Given the description of an element on the screen output the (x, y) to click on. 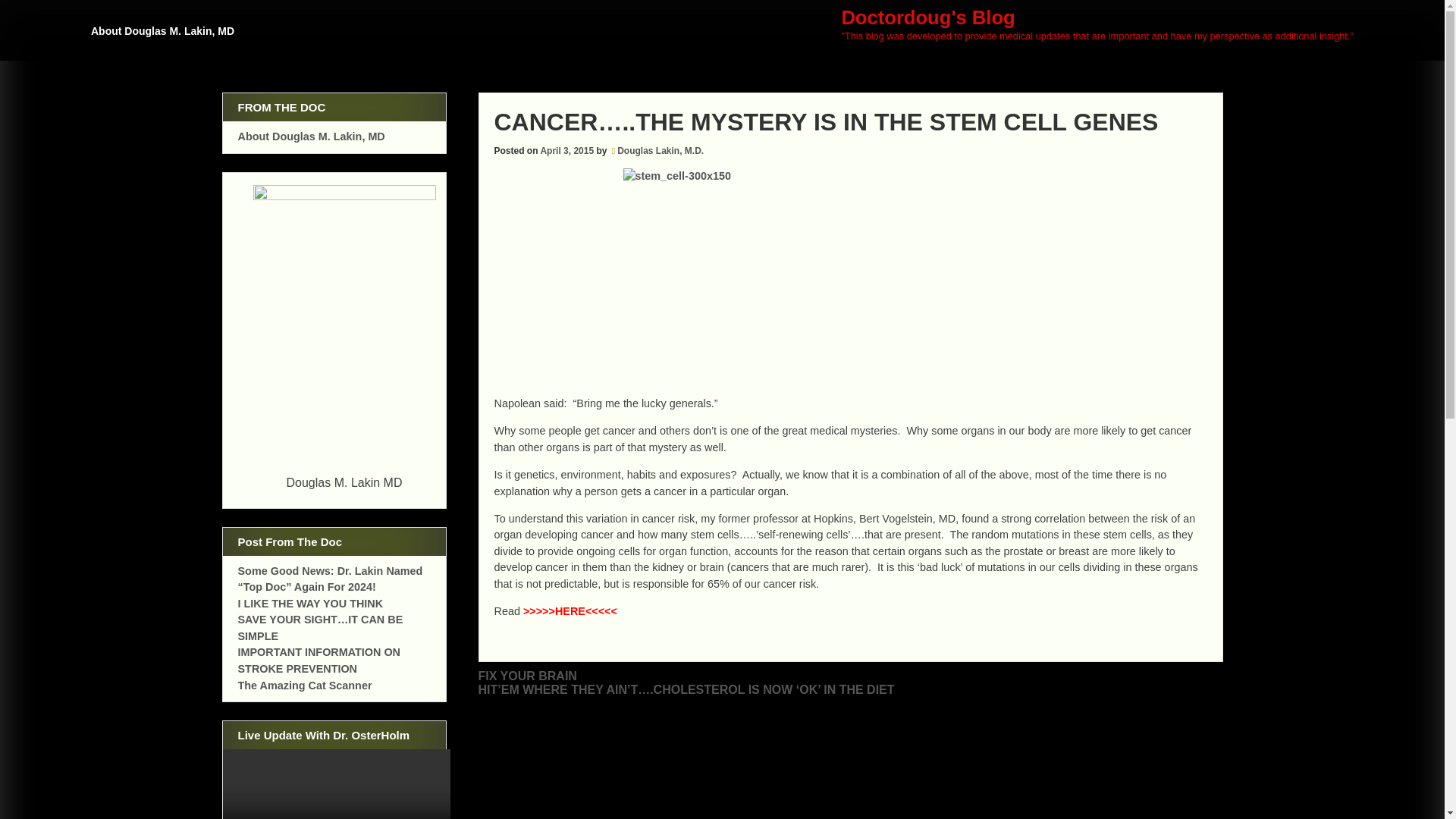
FIX YOUR BRAIN (526, 675)
April 3, 2015 (567, 150)
The Amazing Cat Scanner (305, 685)
IMPORTANT INFORMATION ON STROKE PREVENTION (319, 660)
CANCER RISK...VOGELSTEIN (569, 611)
About Douglas M. Lakin, MD (165, 37)
Doctordoug's Blog (927, 16)
I LIKE THE WAY YOU THINK (311, 603)
Douglas Lakin, M.D. (660, 150)
About Douglas M. Lakin, MD (311, 136)
